Given the description of an element on the screen output the (x, y) to click on. 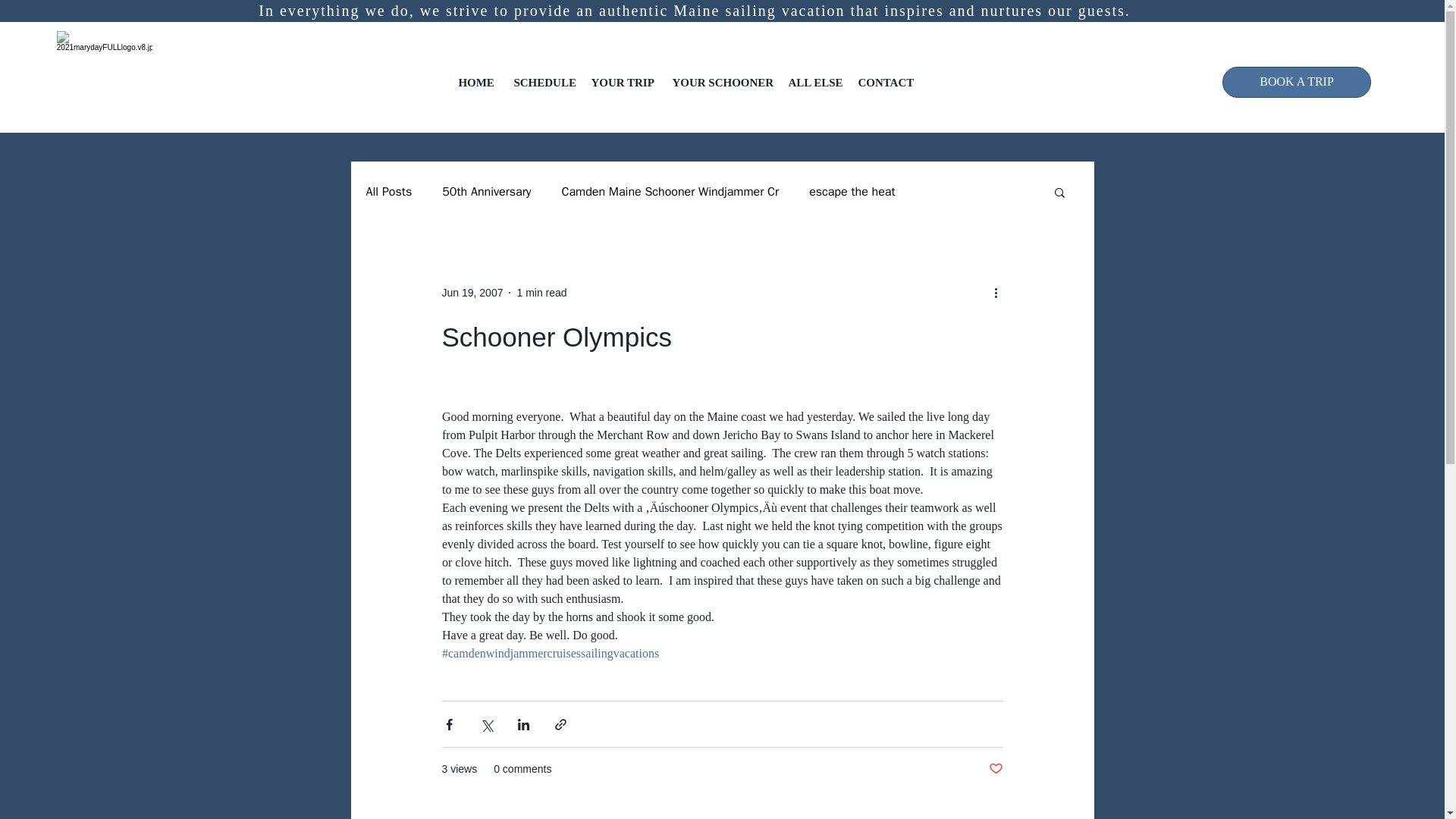
1 min read (541, 292)
BOOK A TRIP (1297, 81)
Jun 19, 2007 (471, 292)
50th Anniversary (486, 191)
escape the heat (852, 191)
HOME (474, 82)
Camden Maine Schooner Windjammer Cr (669, 191)
CONTACT (884, 82)
All Posts (388, 191)
